Given the description of an element on the screen output the (x, y) to click on. 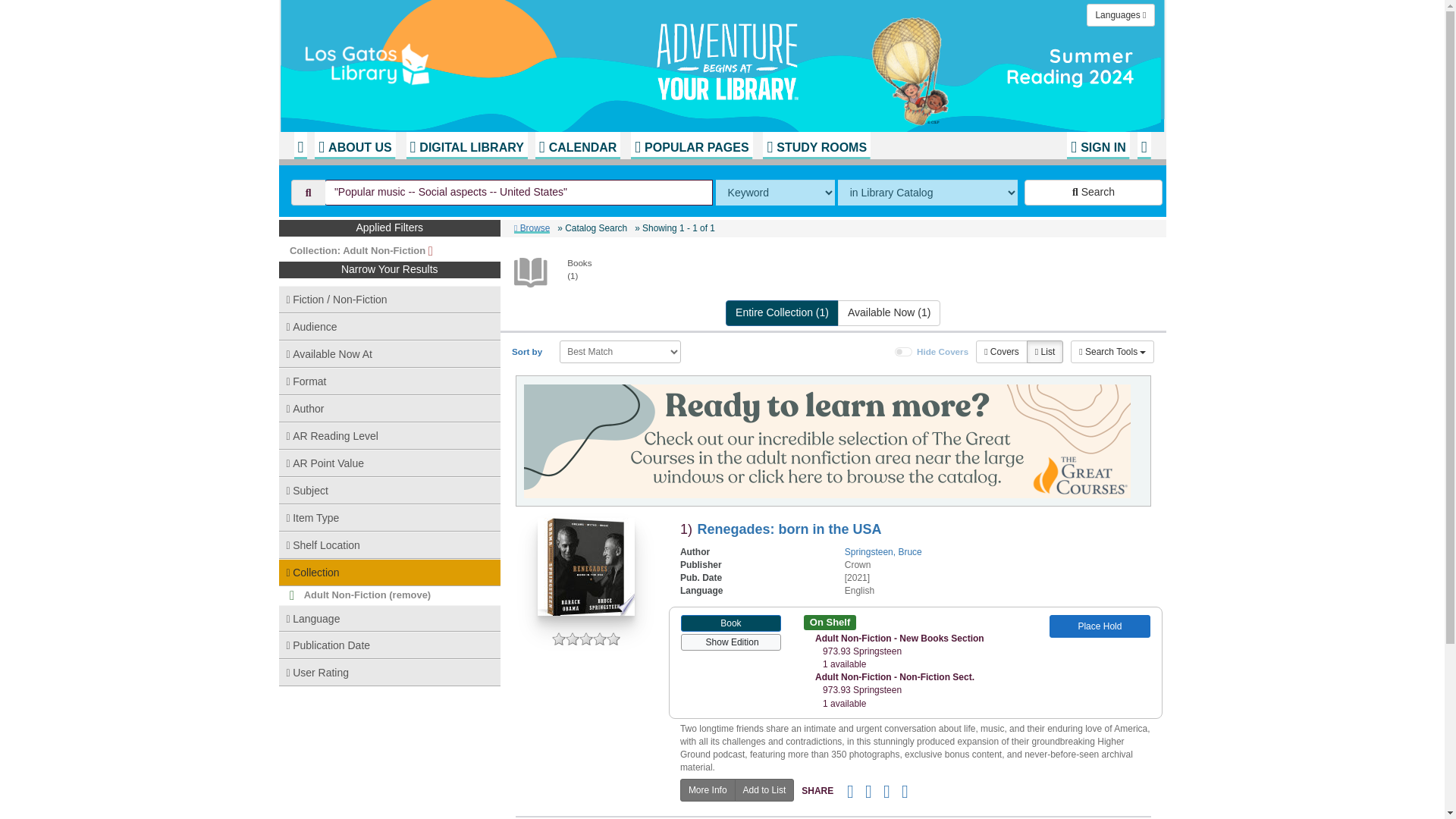
 Search (1093, 192)
on (903, 351)
POPULAR PAGES (691, 144)
STUDY ROOMS (816, 144)
ABOUT US (354, 144)
Library Home Page (483, 60)
SIGN IN (1098, 144)
Languages  (1120, 15)
DIGITAL LIBRARY (466, 144)
CALENDAR (578, 144)
